Given the description of an element on the screen output the (x, y) to click on. 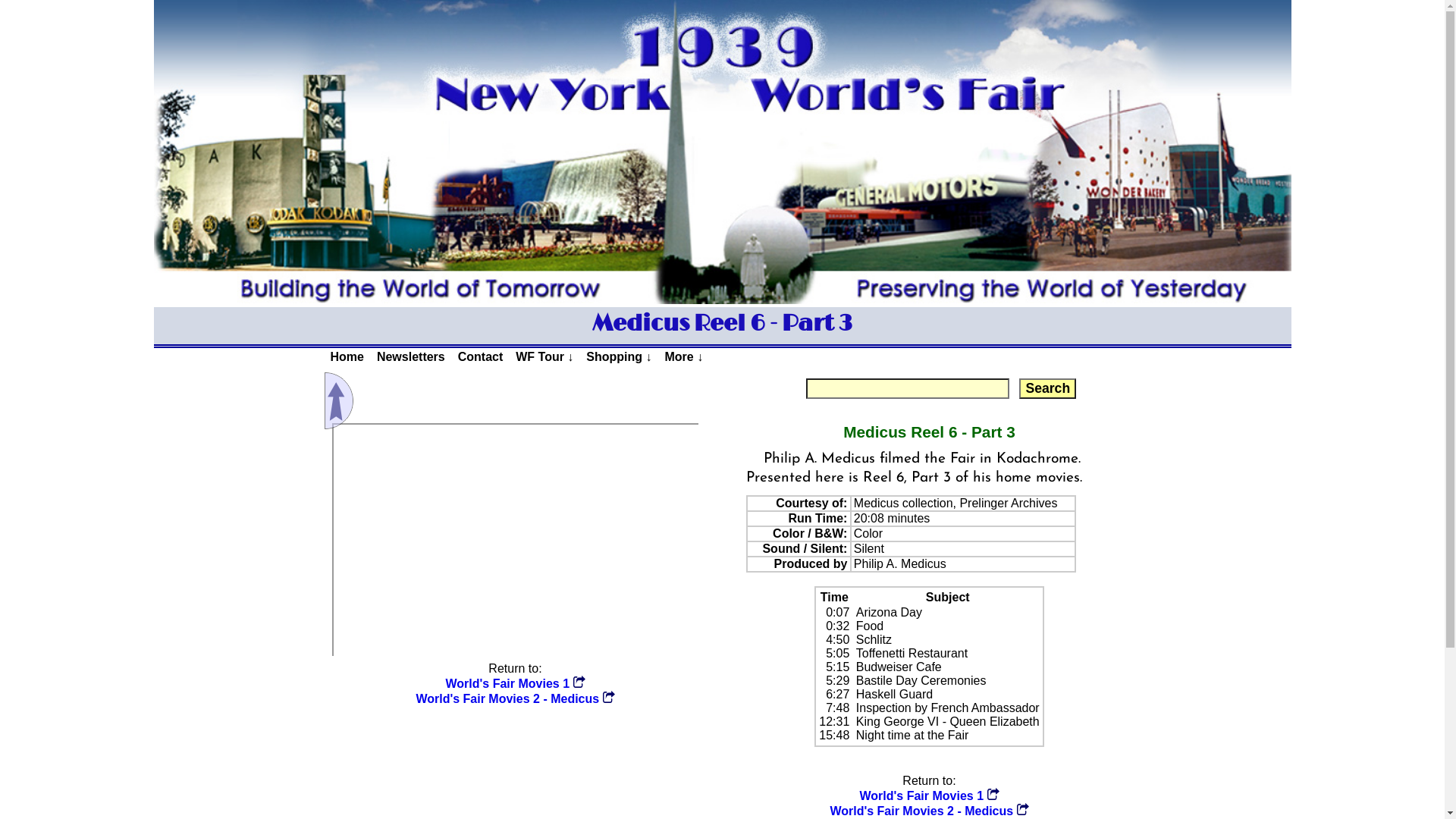
World's Fair Movies 2 - Medicus Element type: text (514, 698)
Newsletters Element type: text (410, 357)
World's Fair Movies 1 Element type: text (515, 683)
1939 NY World's Fair Masthead Element type: hover (721, 152)
Home Element type: text (346, 357)
World's Fair Movies 2 - Medicus Element type: text (928, 810)
Search Element type: text (1047, 388)
Contact Element type: text (480, 357)
World's Fair Movies 1 Element type: text (929, 795)
